Given the description of an element on the screen output the (x, y) to click on. 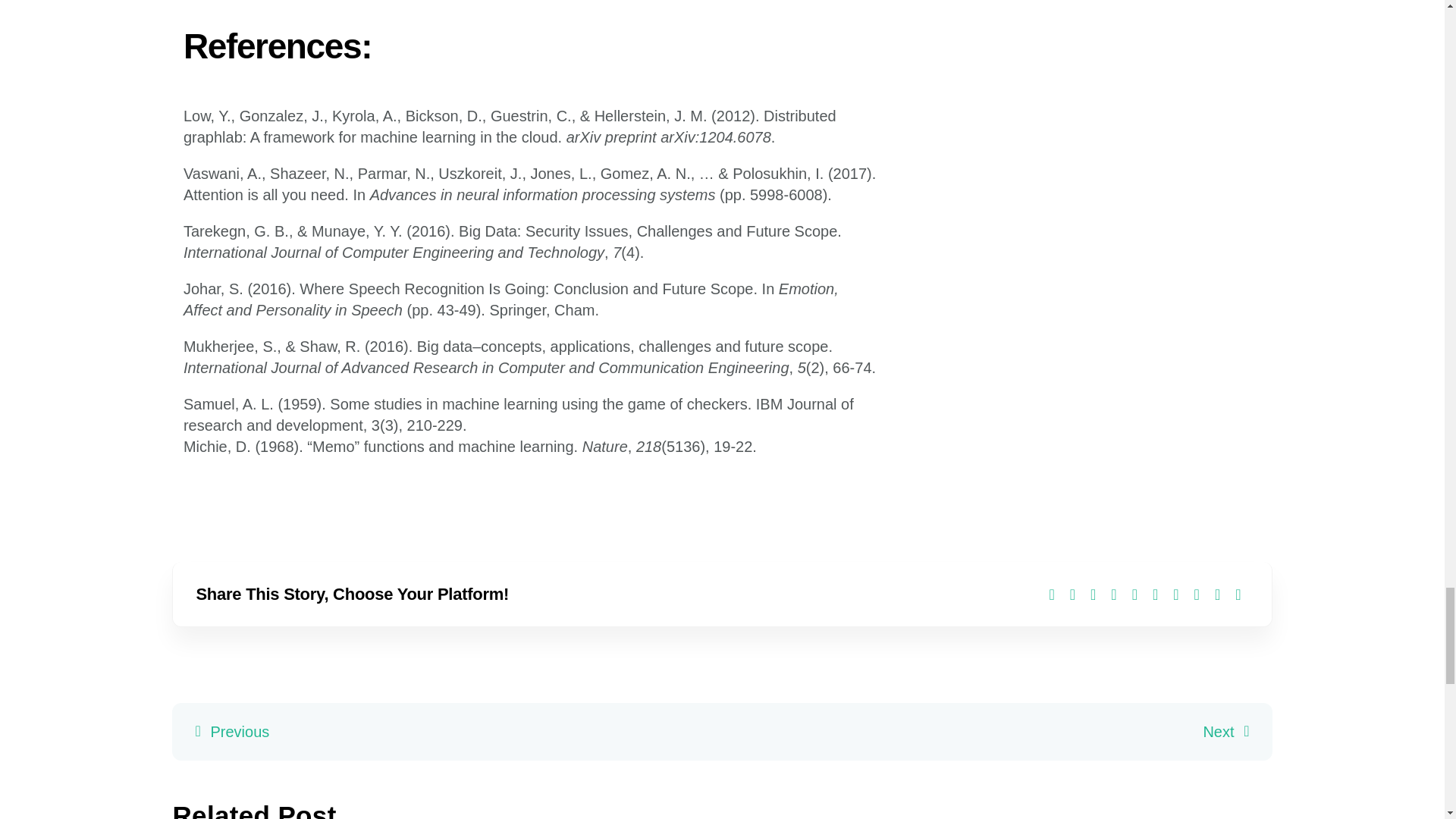
Vk (1196, 594)
LinkedIn (1113, 594)
Tumblr (1155, 594)
Reddit (1093, 594)
X (1072, 594)
Facebook (1051, 594)
Email (1237, 594)
WhatsApp (1134, 594)
Xing (1217, 594)
Pinterest (1176, 594)
